Given the description of an element on the screen output the (x, y) to click on. 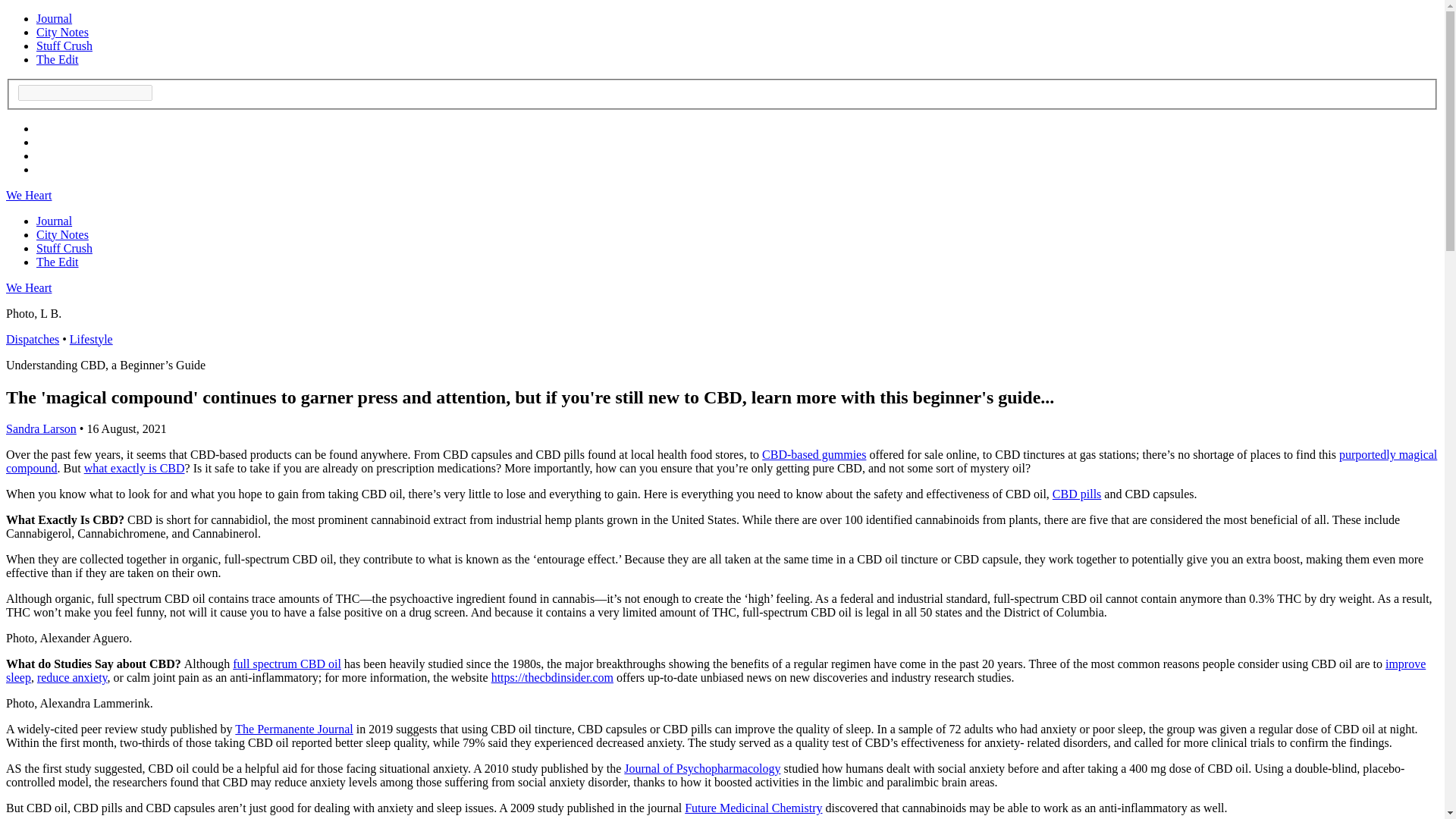
Sandra Larson (41, 428)
The Edit (57, 261)
what exactly is CBD (134, 468)
Journal (53, 220)
Journal of Psychopharmacology (702, 768)
The Permanente Journal (293, 728)
CBD pills (1076, 493)
Stuff Crush (64, 247)
Future Medicinal Chemistry (753, 807)
Lifestyle (91, 338)
We Heart (27, 287)
The Edit (57, 59)
CBD-based gummies (813, 454)
full spectrum CBD oil (286, 663)
